Given the description of an element on the screen output the (x, y) to click on. 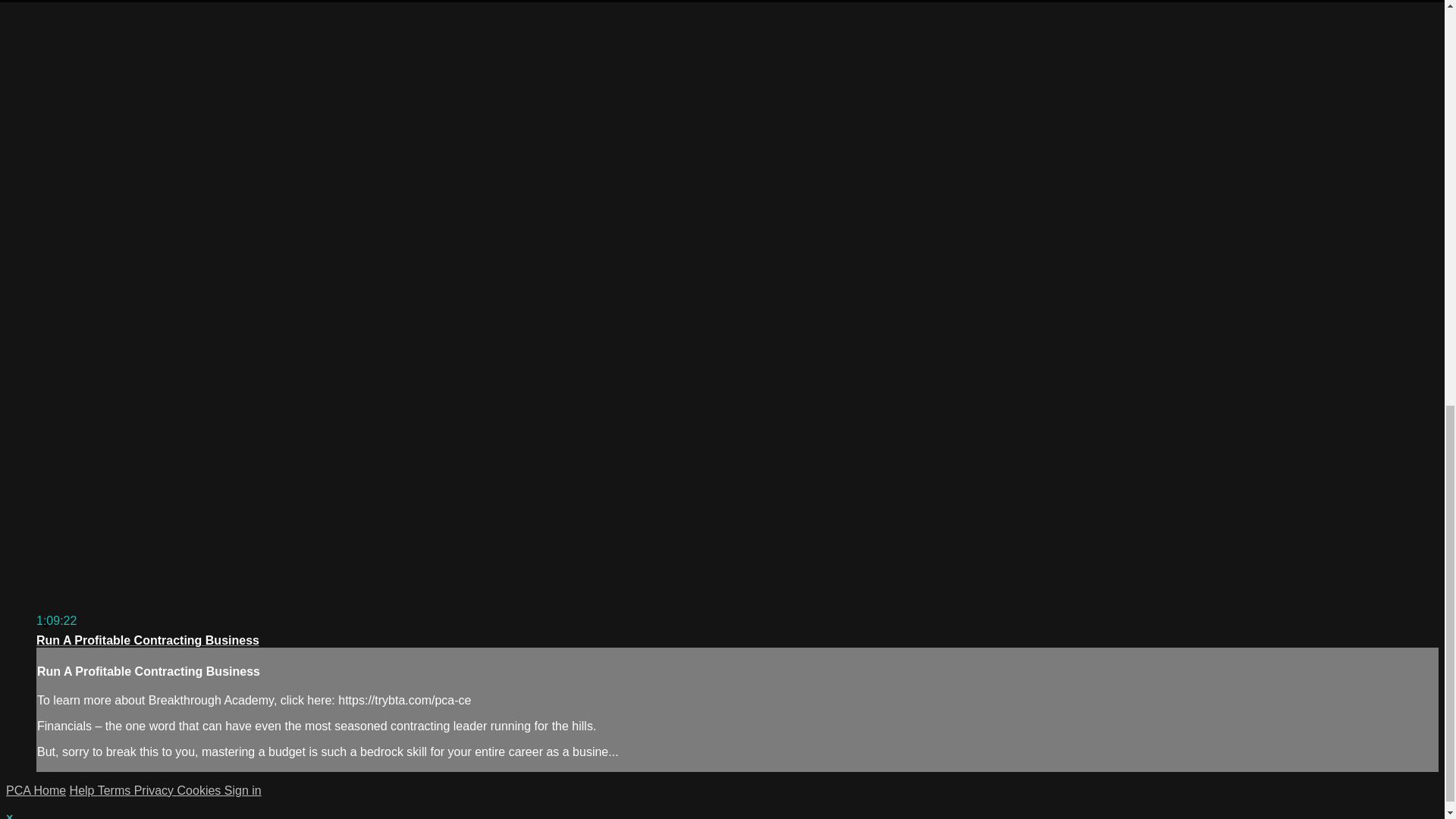
PCA Home (35, 789)
Run A Profitable Contracting Business (147, 640)
Sign in (243, 789)
Run A Profitable Contracting Business (147, 640)
Privacy (155, 789)
Help (83, 789)
Cookies (200, 789)
Terms (115, 789)
